Given the description of an element on the screen output the (x, y) to click on. 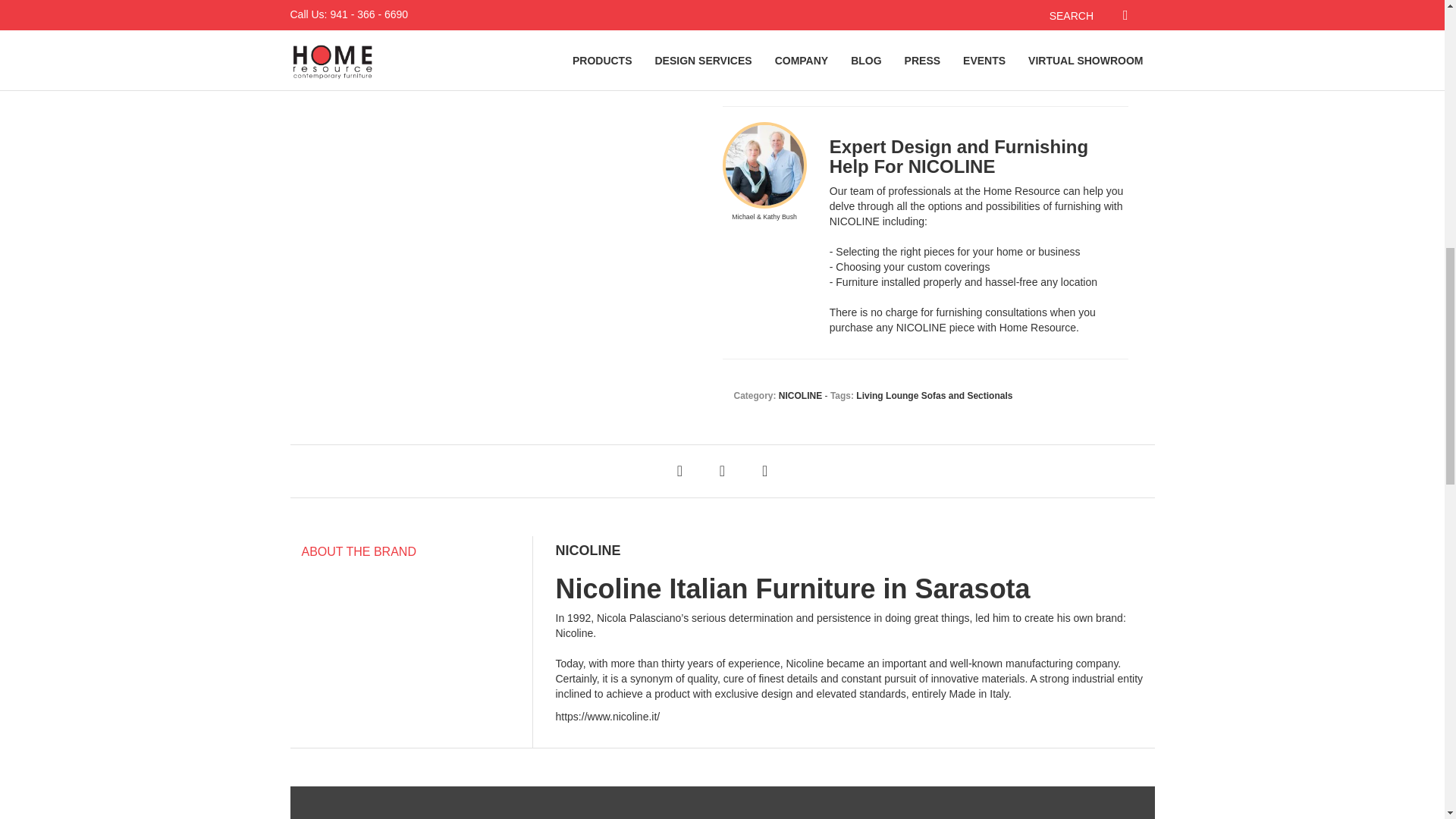
SEND (762, 68)
Living (869, 395)
NICOLINE WEBSITE (606, 716)
ABOUT THE BRAND (410, 552)
 Lounge (901, 395)
NICOLINE (800, 395)
 Sofas and Sectionals (967, 395)
Sofas and Sectionals (967, 395)
Lounge (901, 395)
 Living (869, 395)
NICOLINE (800, 395)
